Given the description of an element on the screen output the (x, y) to click on. 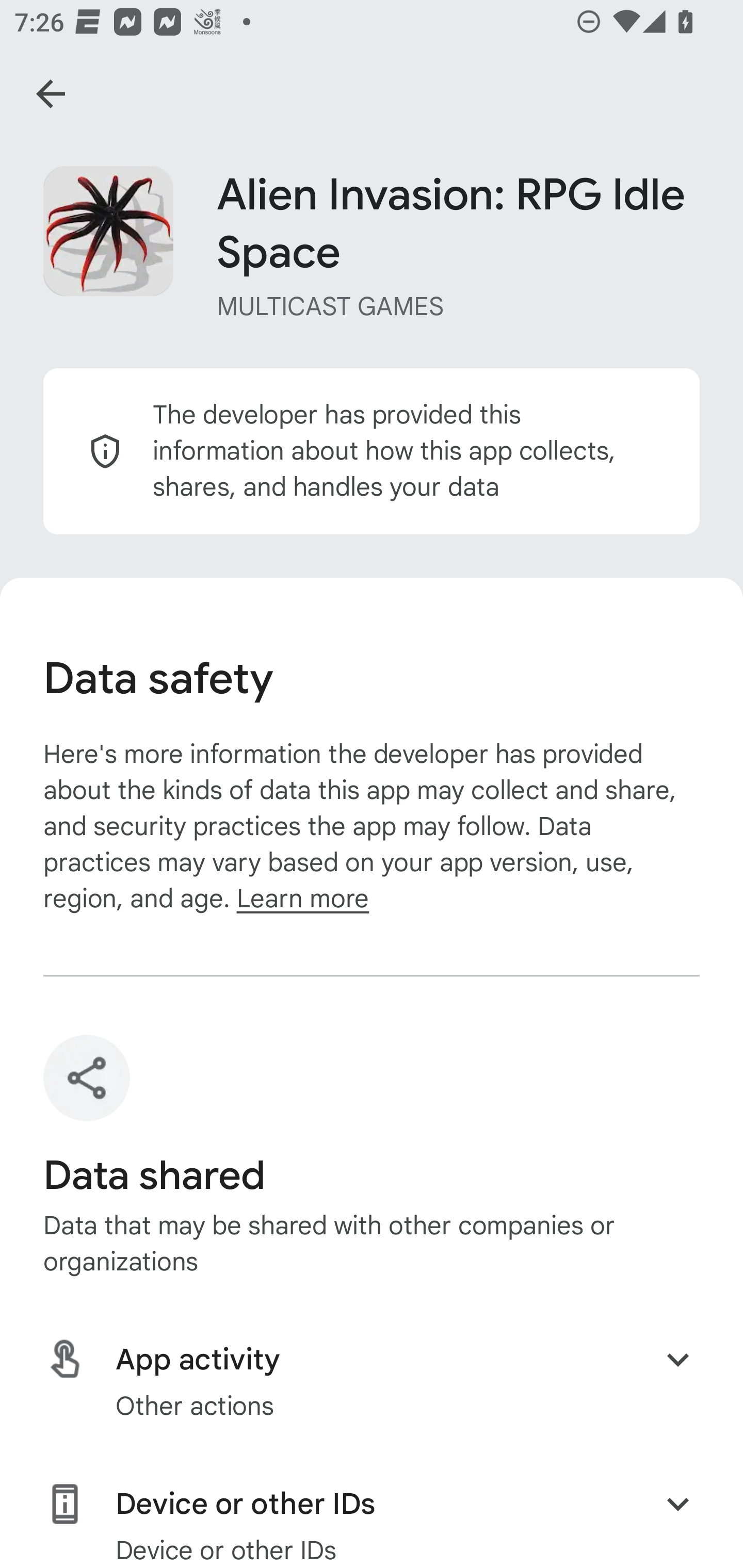
Navigate up (50, 93)
heading App activity Other actions Expand button (371, 1381)
